Given the description of an element on the screen output the (x, y) to click on. 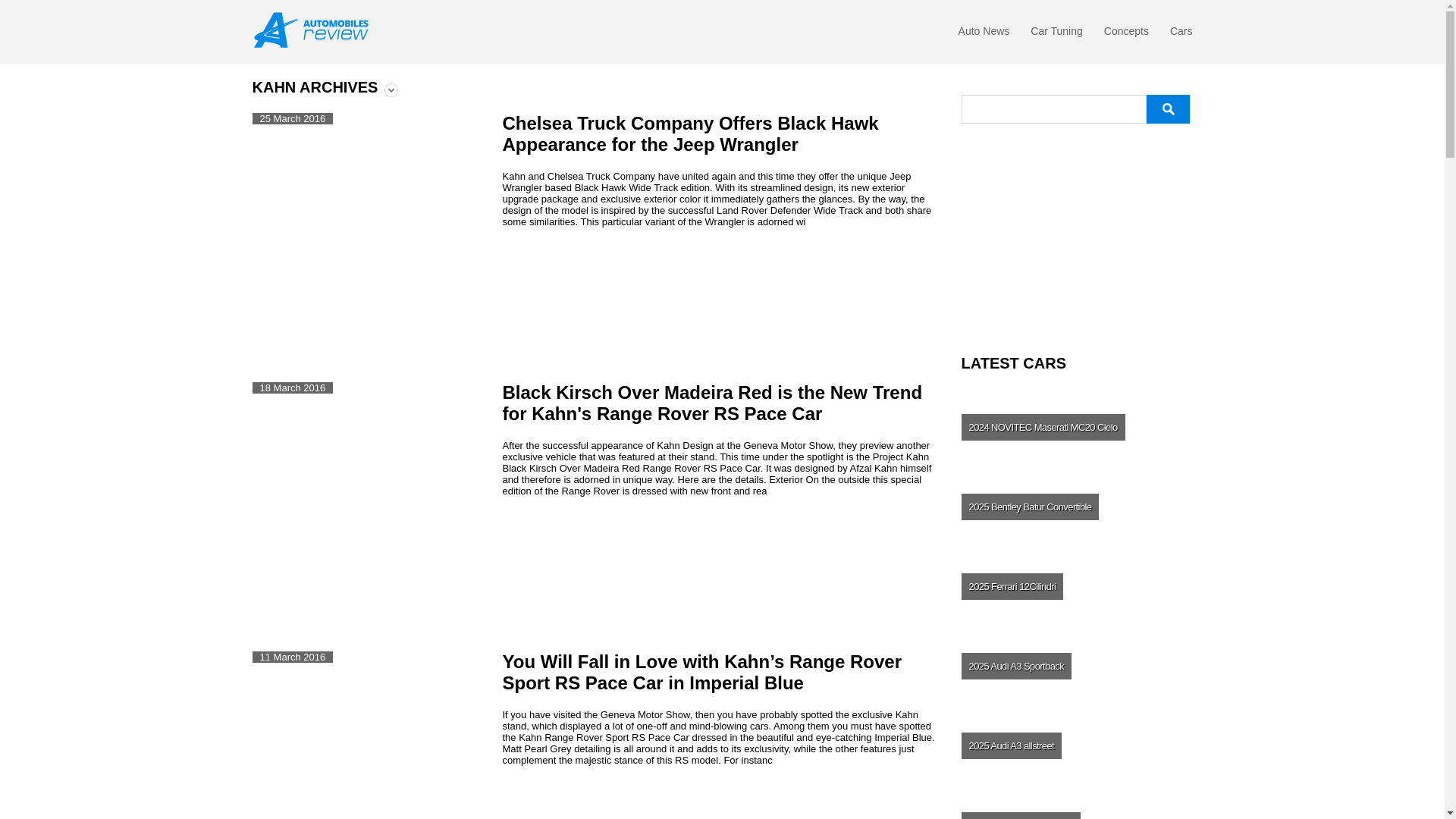
Honda Accord Touring Type-S (998, 209)
Concepts (1125, 35)
Cars (1181, 35)
JMS Racelook Opel Corsa D (1153, 151)
Senner Tuning Audi S5 Coupe (1074, 209)
Car Tuning (1055, 35)
Auto News (984, 35)
NOVITEC Maserati MC20 Cielo (1074, 427)
Concepts (1125, 35)
Pagani Zonda R (1074, 151)
Praga Bohema (1153, 267)
Automobilesreview.com (315, 30)
Cars (1181, 35)
